Given the description of an element on the screen output the (x, y) to click on. 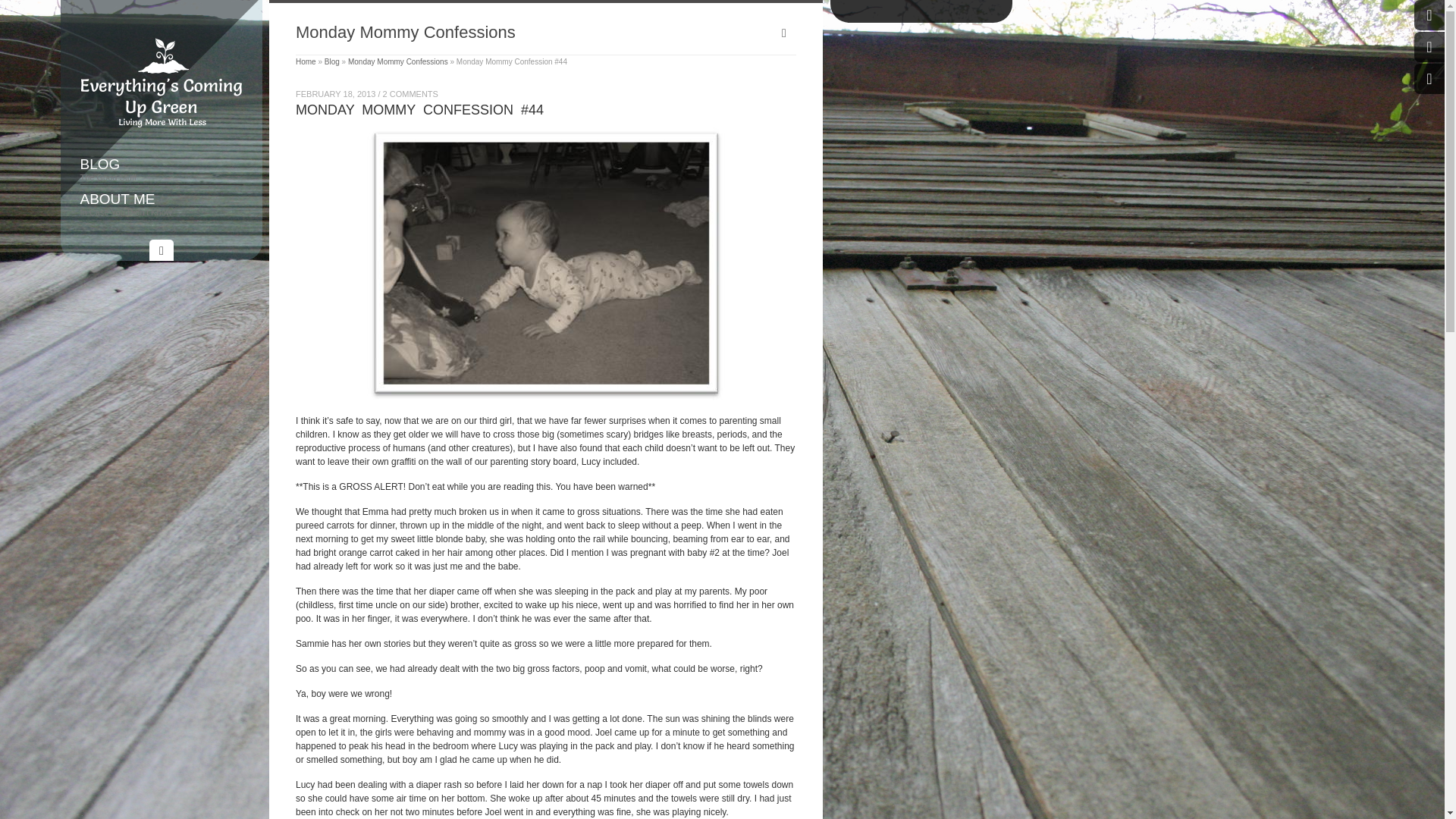
Home (305, 61)
Blog (331, 61)
Living More With Less (161, 168)
2 COMMENTS (161, 123)
Monday Mommy Confessions (410, 91)
